Given the description of an element on the screen output the (x, y) to click on. 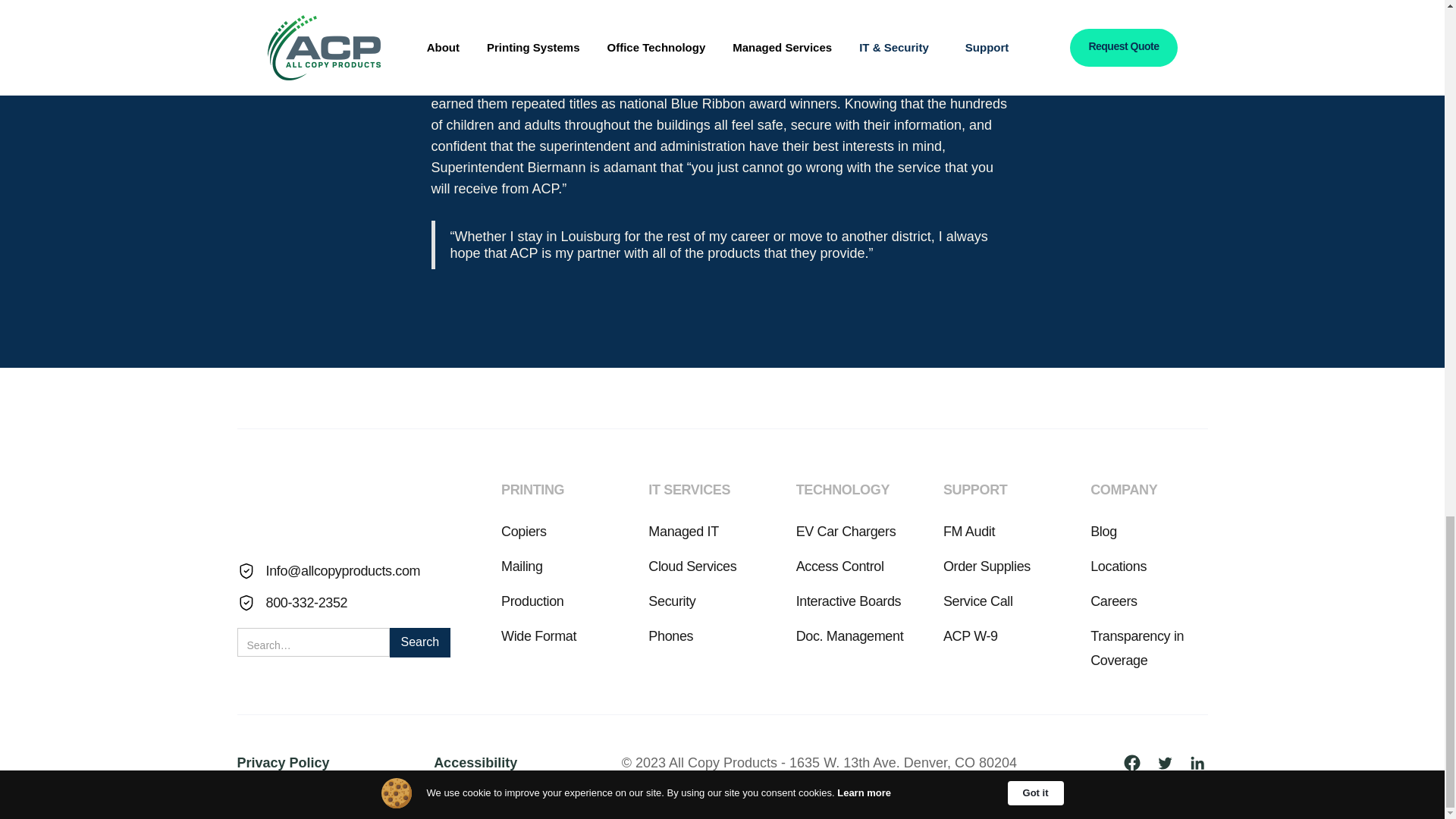
ACP Twitter (1170, 762)
ACP Facebook (1137, 762)
dark twitter icon (1170, 762)
dark linkedin icon (1196, 762)
dark facebook icon (1137, 762)
Search (420, 642)
ACP Linkedin (1196, 762)
acp office phone number (291, 602)
ACP Info email address (327, 570)
Search (420, 642)
